Given the description of an element on the screen output the (x, y) to click on. 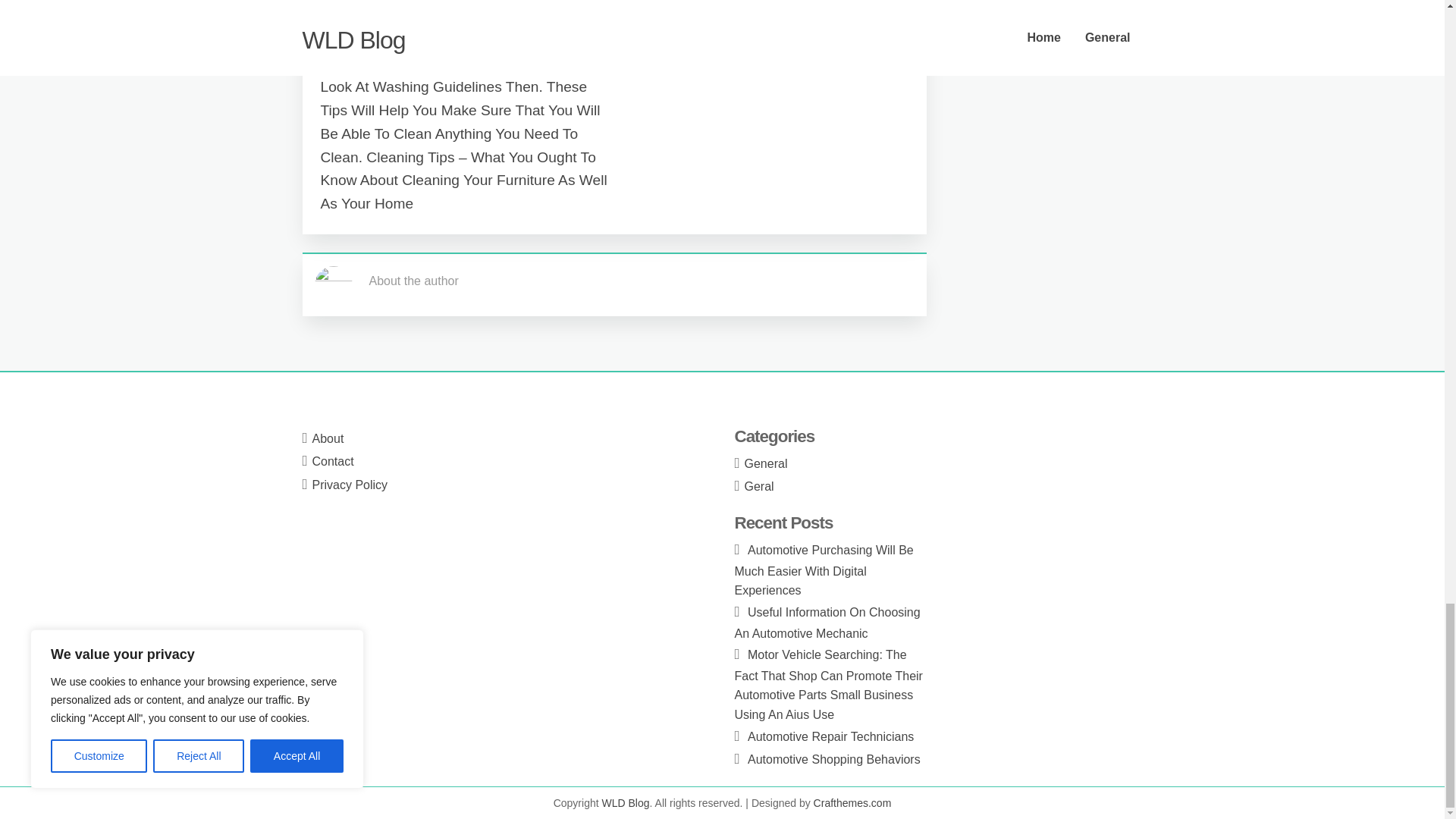
Previous Post (364, 17)
Contact (333, 461)
Privacy Policy (350, 484)
Next Post (875, 17)
General (765, 463)
About (328, 438)
